Given the description of an element on the screen output the (x, y) to click on. 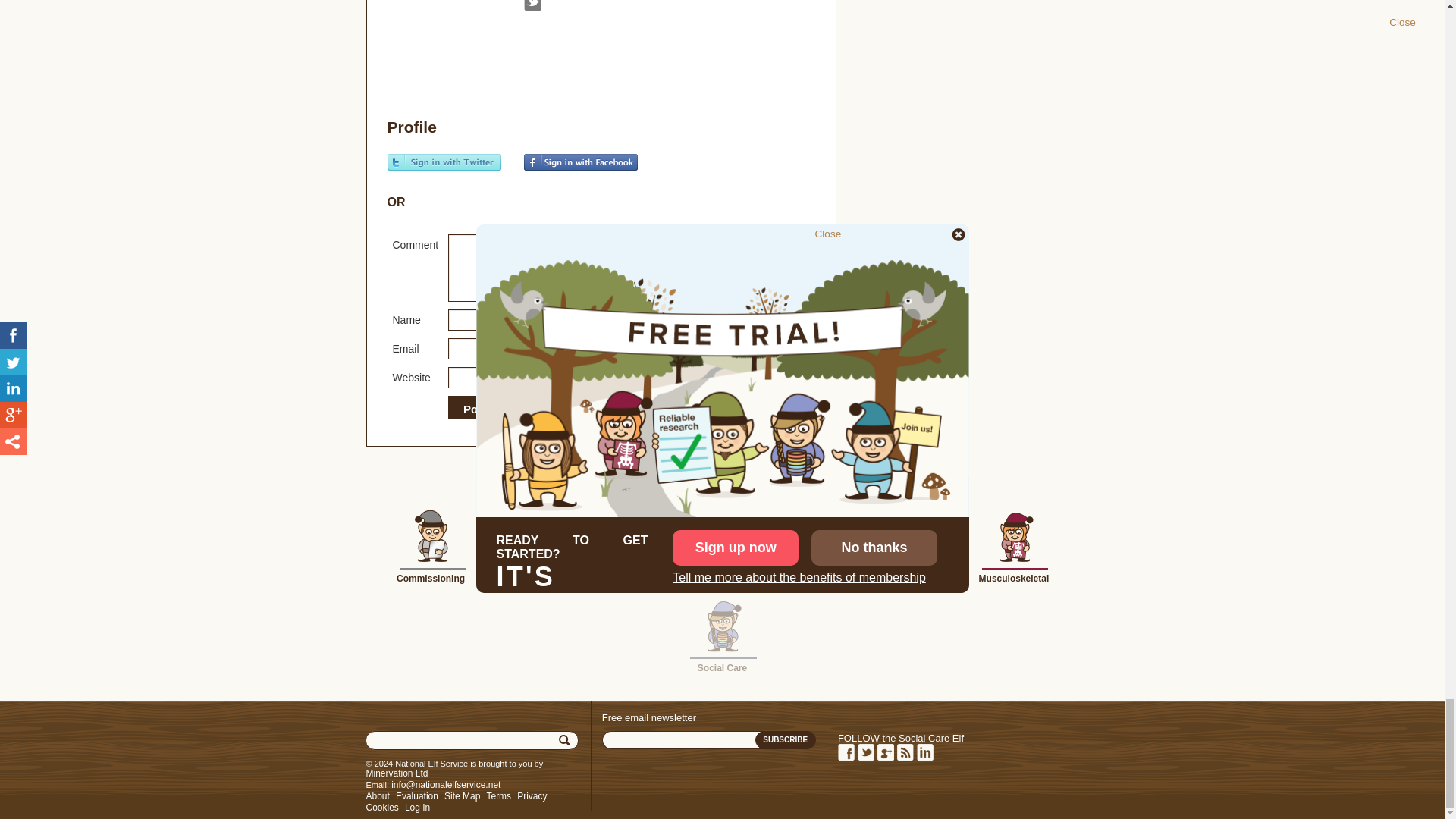
Subscribe (785, 740)
Post It (479, 409)
Twitter (531, 5)
Search (565, 740)
